Given the description of an element on the screen output the (x, y) to click on. 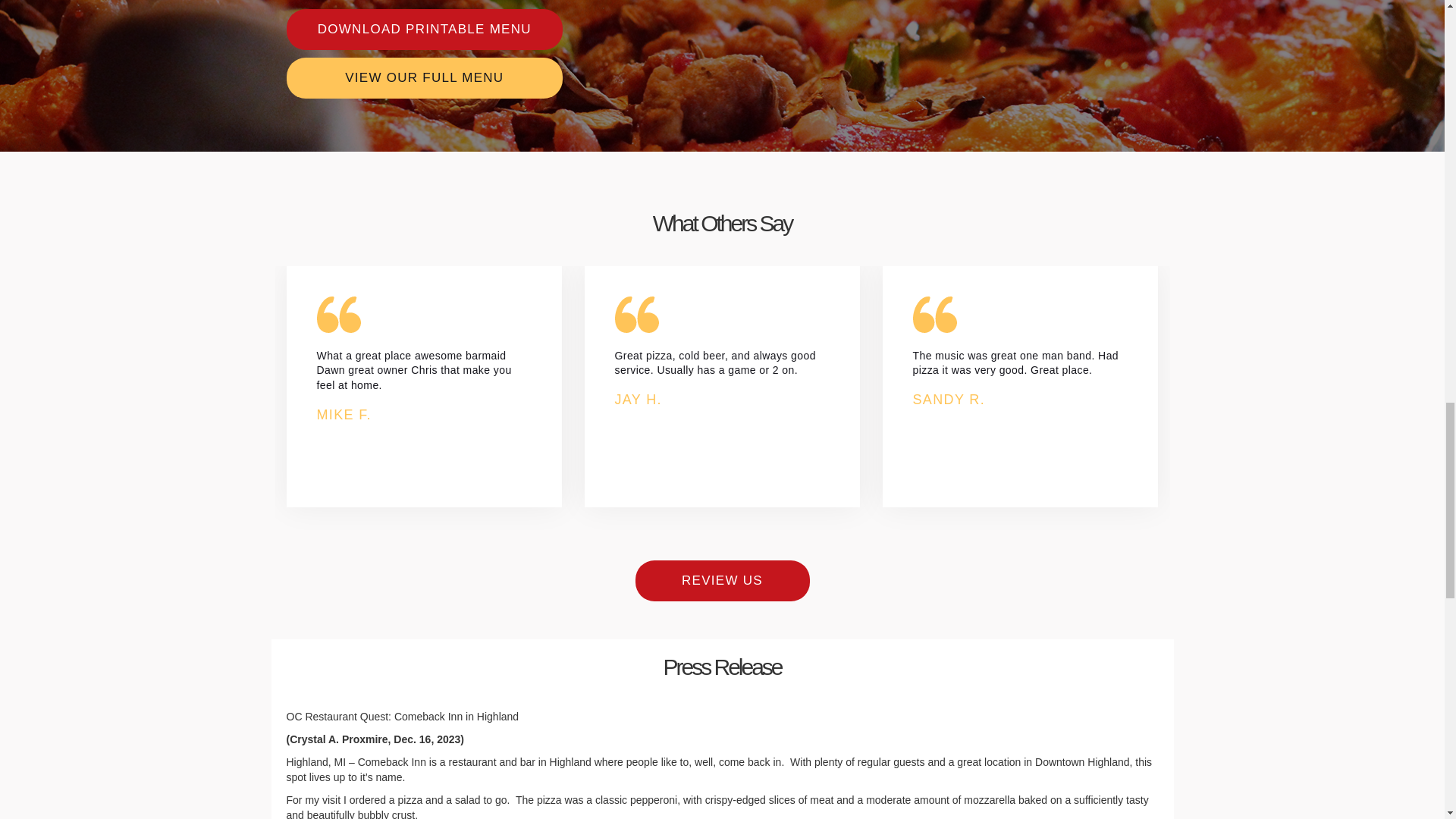
VIEW OUR FULL MENU (424, 77)
DOWNLOAD PRINTABLE MENU (424, 29)
REVIEW US (721, 580)
